Given the description of an element on the screen output the (x, y) to click on. 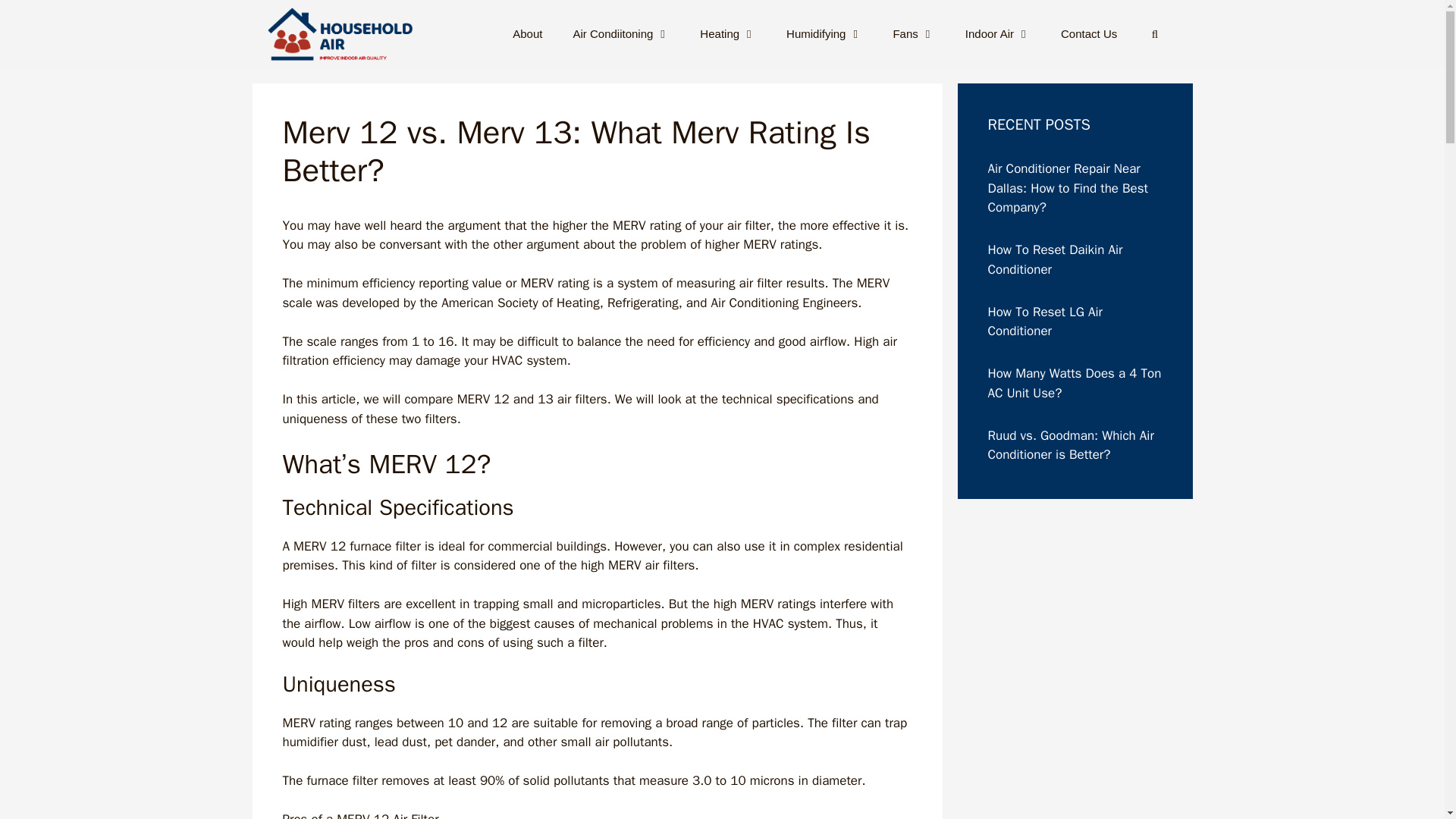
Heating (727, 33)
HouseholdAir (342, 33)
Air Condiitoning (620, 33)
HouseholdAir (339, 33)
About (527, 33)
